Given the description of an element on the screen output the (x, y) to click on. 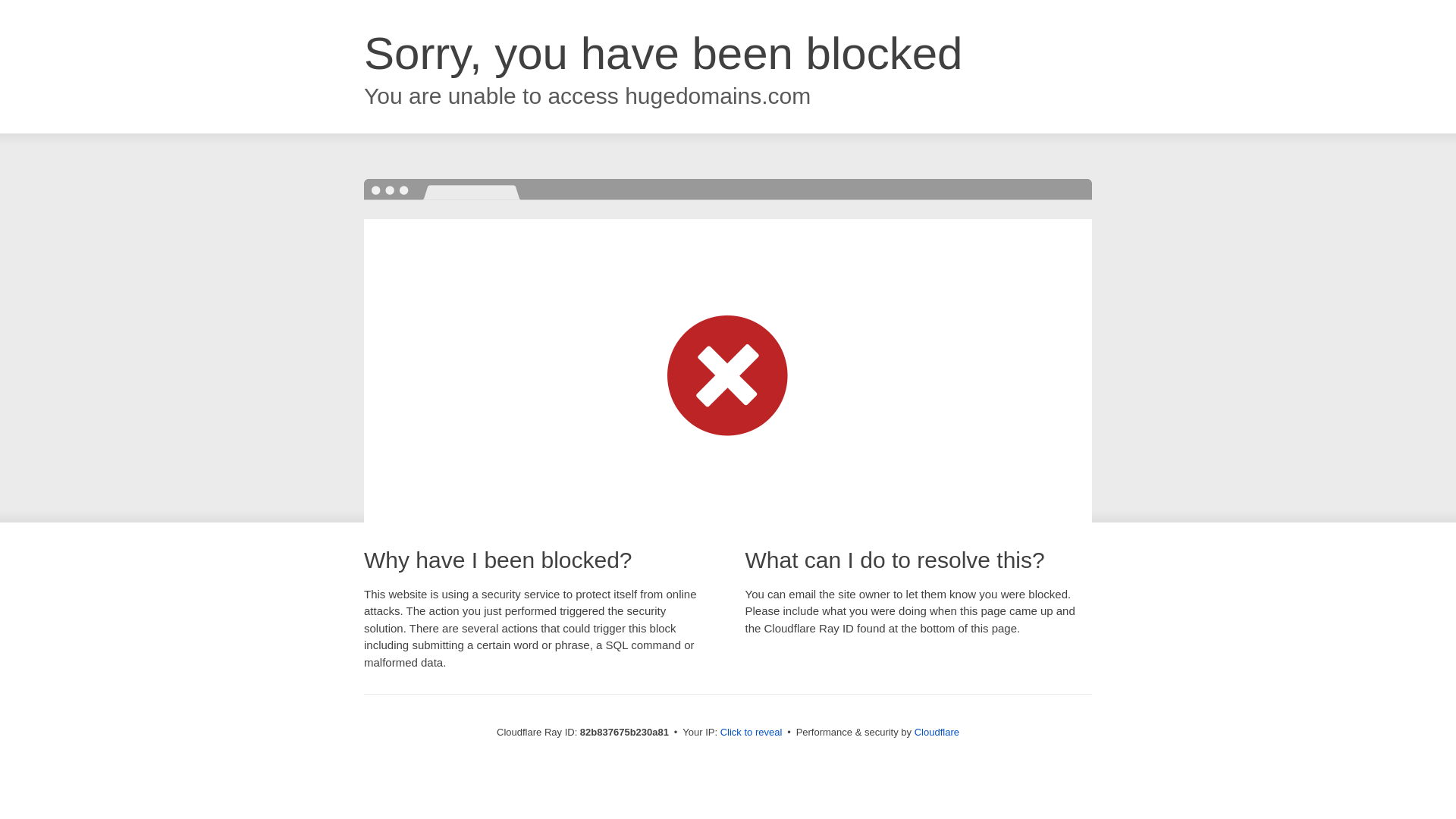
Click to reveal Element type: text (751, 732)
Cloudflare Element type: text (936, 731)
